Given the description of an element on the screen output the (x, y) to click on. 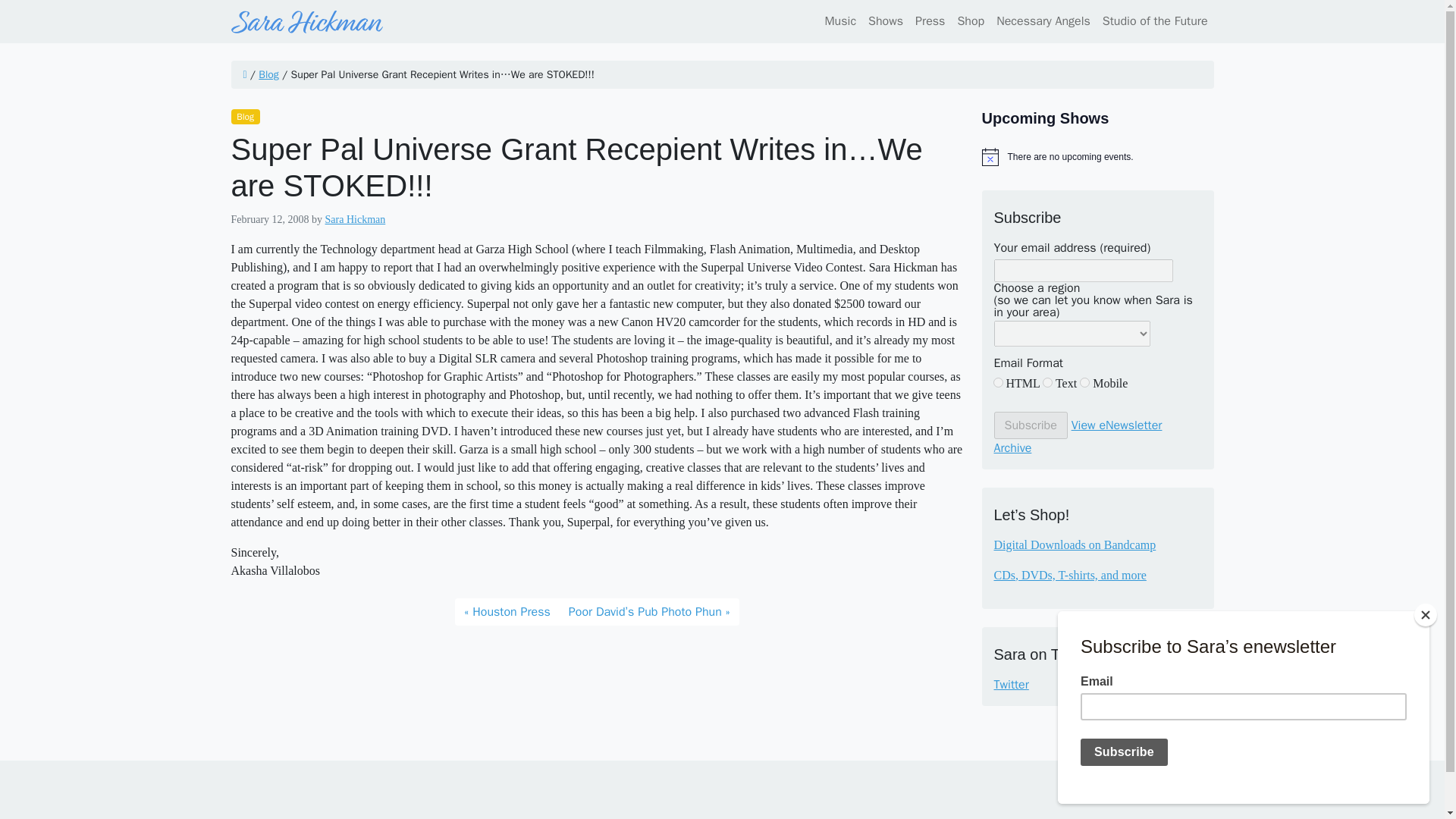
Subscribe (1029, 424)
Studio of the Future (1152, 20)
Blog (244, 116)
text (1047, 382)
Necessary Angels (1043, 20)
Houston Press (506, 611)
mobile (1084, 382)
Shows (884, 20)
Digital Downloads on Bandcamp (1074, 544)
Music (840, 20)
